Given the description of an element on the screen output the (x, y) to click on. 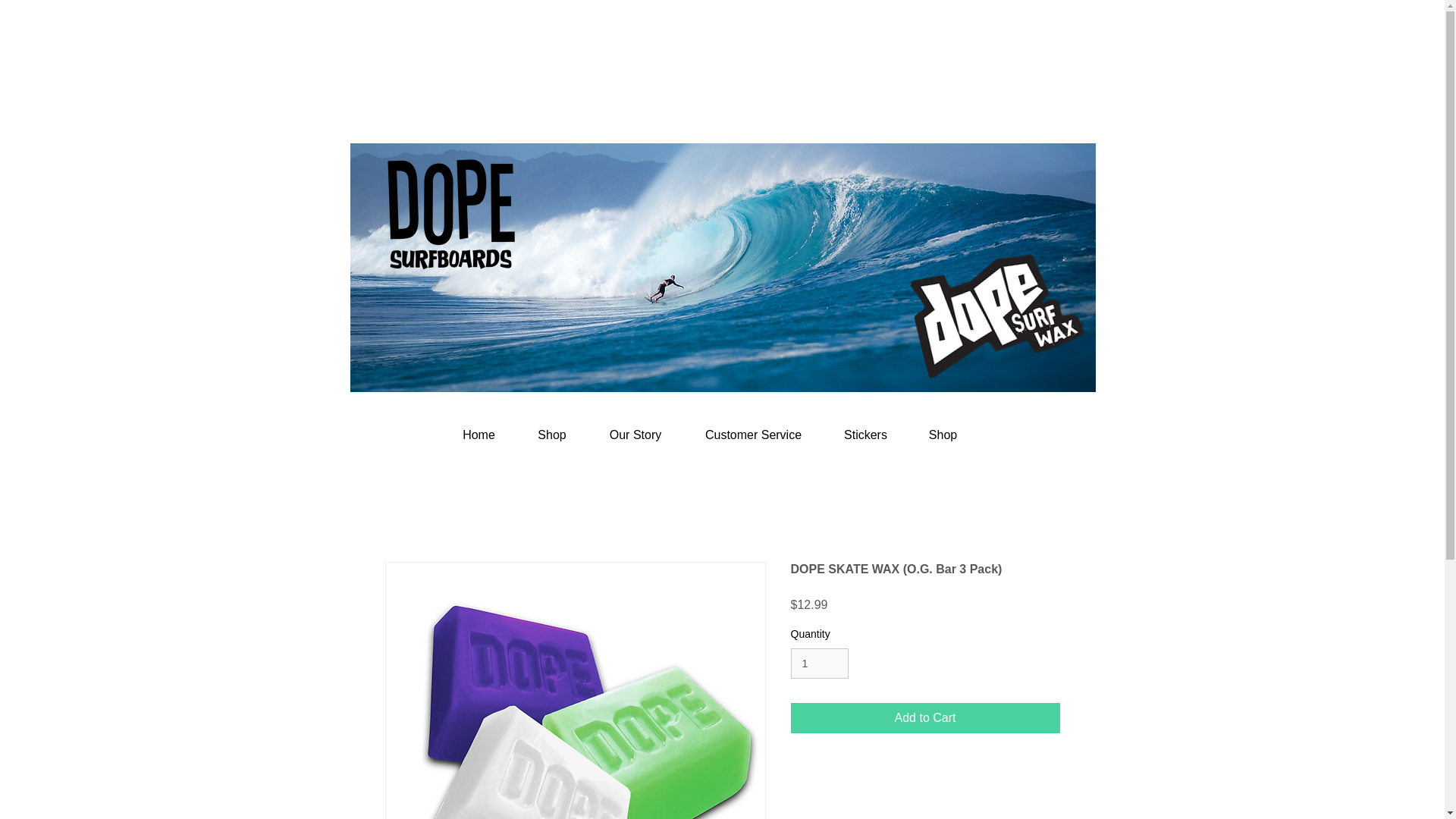
Shop (552, 435)
Home (478, 435)
Customer Service (754, 435)
Add to Cart (924, 717)
Shop (943, 435)
1 (818, 663)
Stickers (866, 435)
Our Story (634, 435)
